Given the description of an element on the screen output the (x, y) to click on. 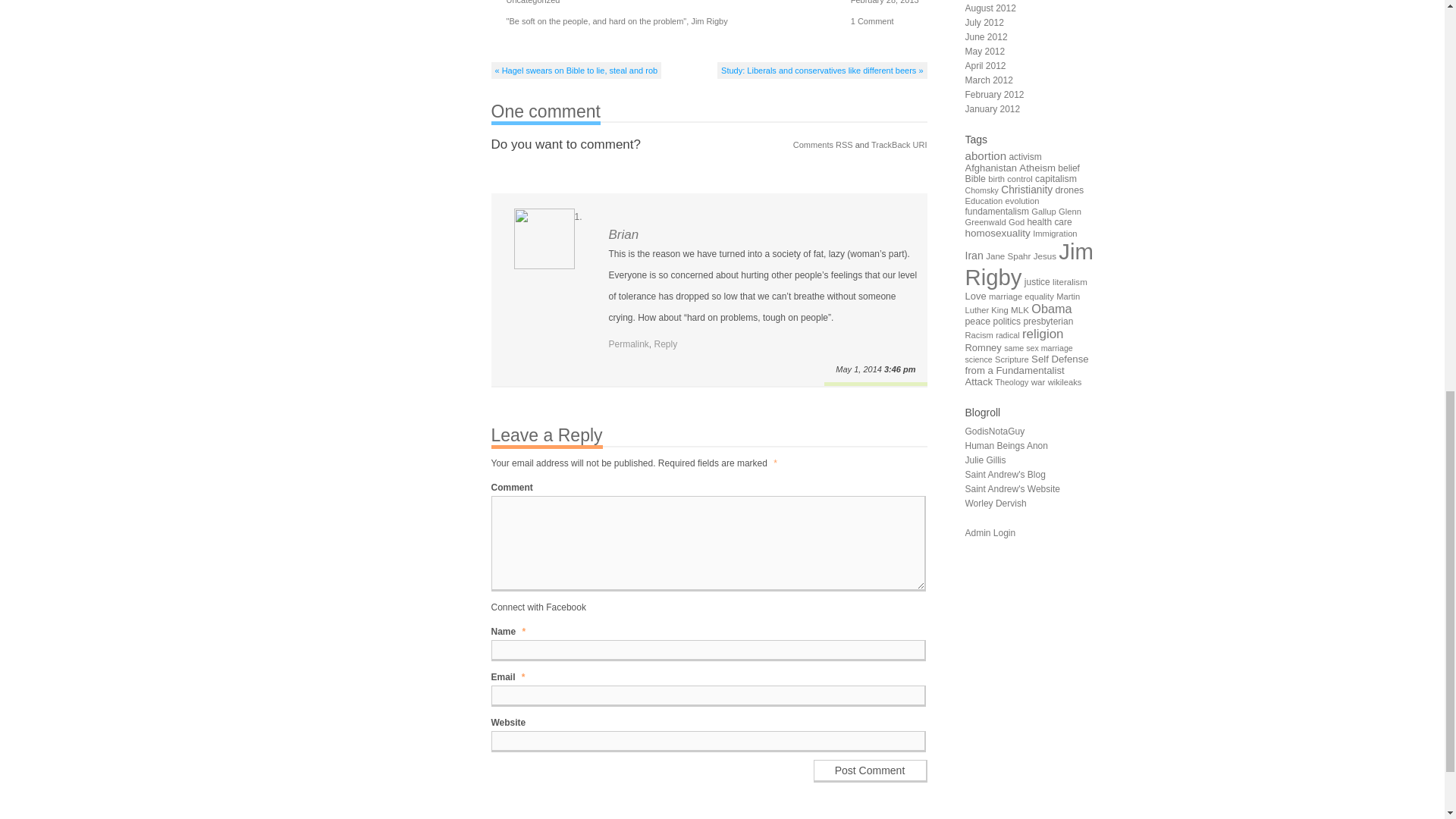
Post Comment (869, 771)
and hard on the problem" (639, 20)
Jim Rigby (708, 20)
Uncategorized (533, 2)
Reply (665, 344)
1 Comment (871, 20)
Comments RSS (823, 144)
TrackBack URI (898, 144)
Permalink (627, 344)
Post Comment (869, 771)
